Given the description of an element on the screen output the (x, y) to click on. 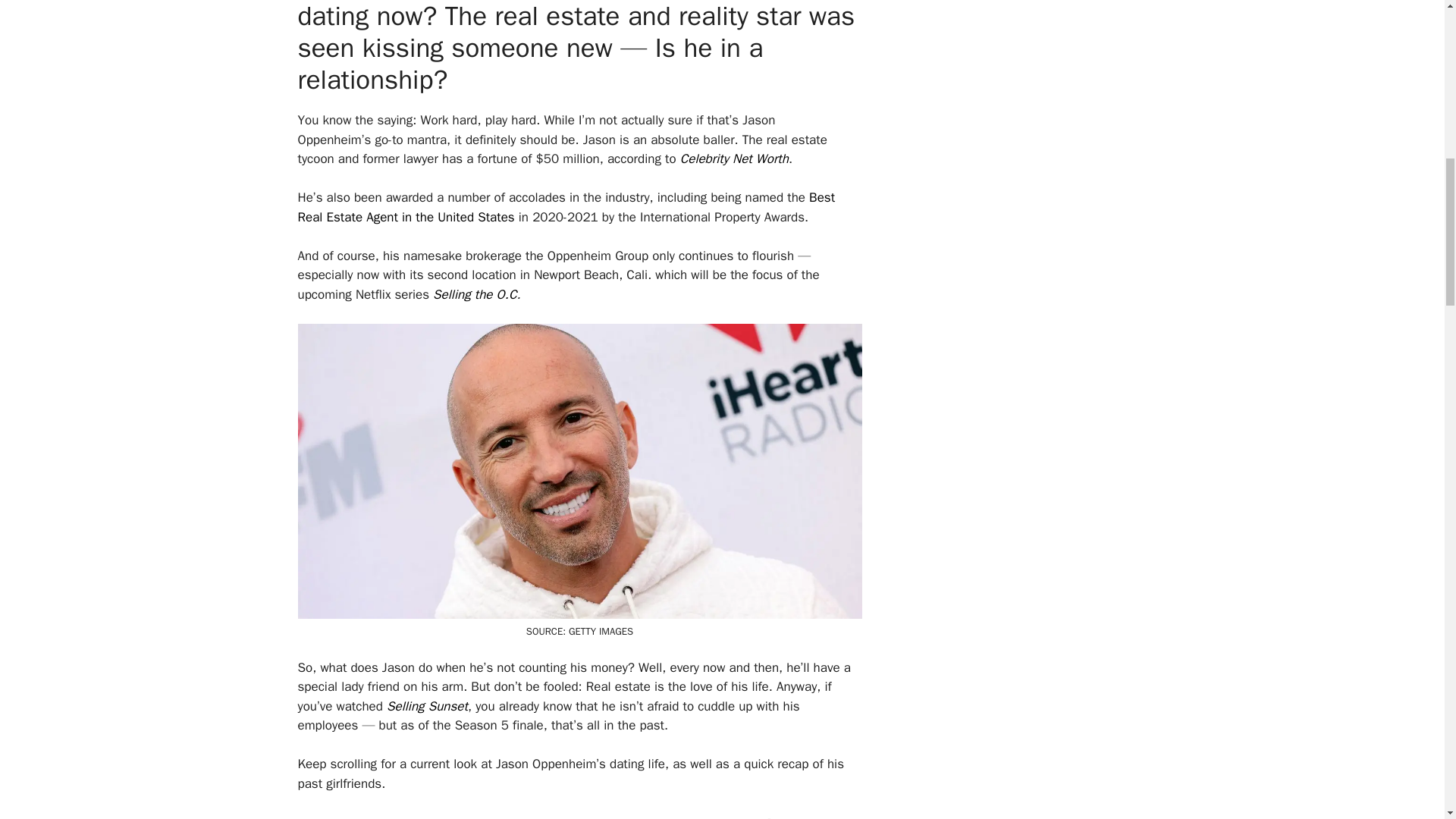
Celebrity Net Worth (734, 158)
Best Real Estate Agent in the United States (565, 207)
Selling Sunset (427, 705)
Selling the O.C (474, 294)
